Given the description of an element on the screen output the (x, y) to click on. 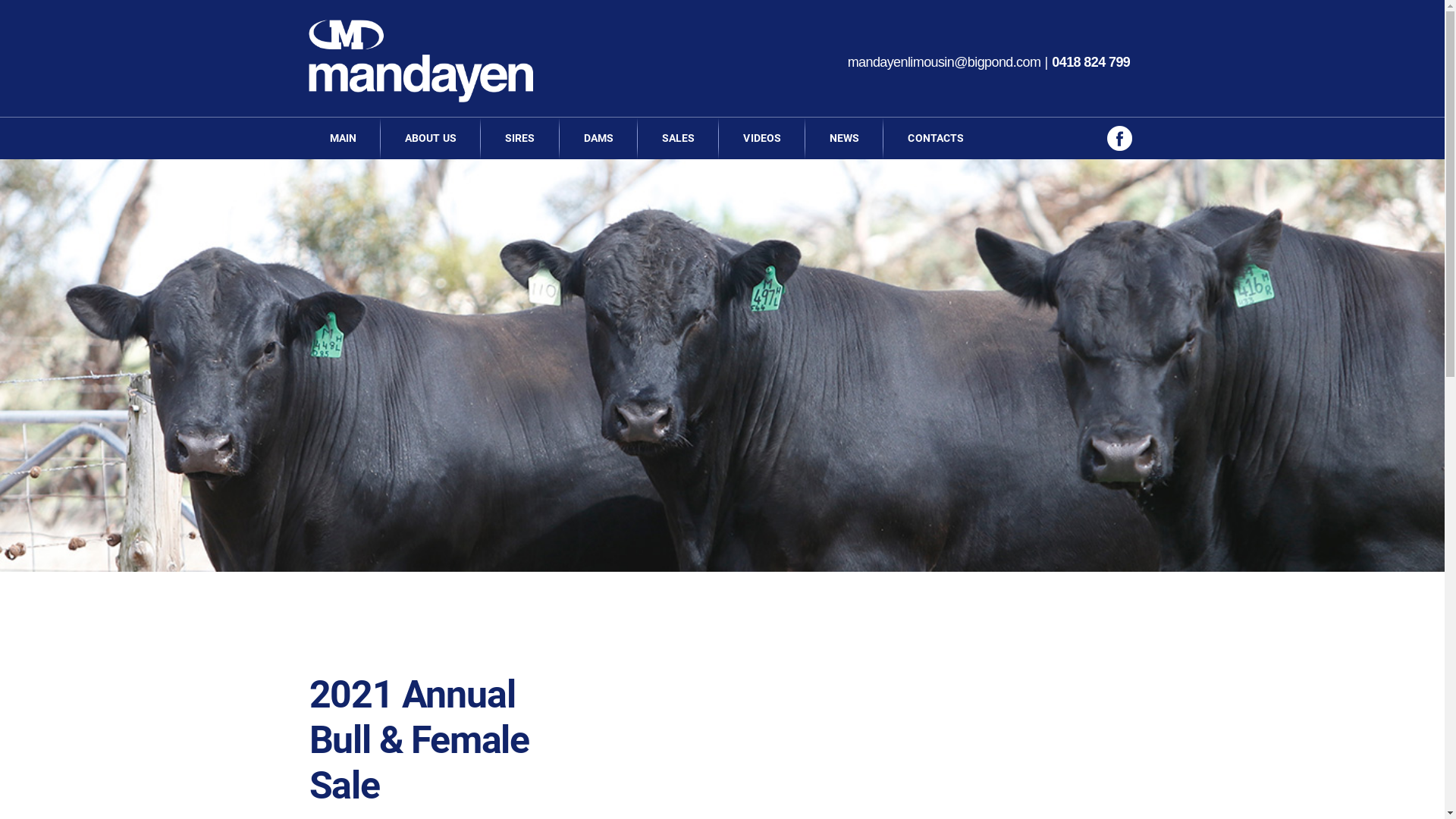
mandayenlimousin@bigpond.com Element type: text (944, 61)
MAIN Element type: text (342, 138)
DAMS Element type: text (598, 138)
SALES Element type: text (678, 138)
CONTACTS Element type: text (935, 138)
NEWS Element type: text (843, 138)
ABOUT US Element type: text (430, 138)
0418 824 799 Element type: text (1090, 61)
SIRES Element type: text (520, 138)
VIDEOS Element type: text (761, 138)
